Given the description of an element on the screen output the (x, y) to click on. 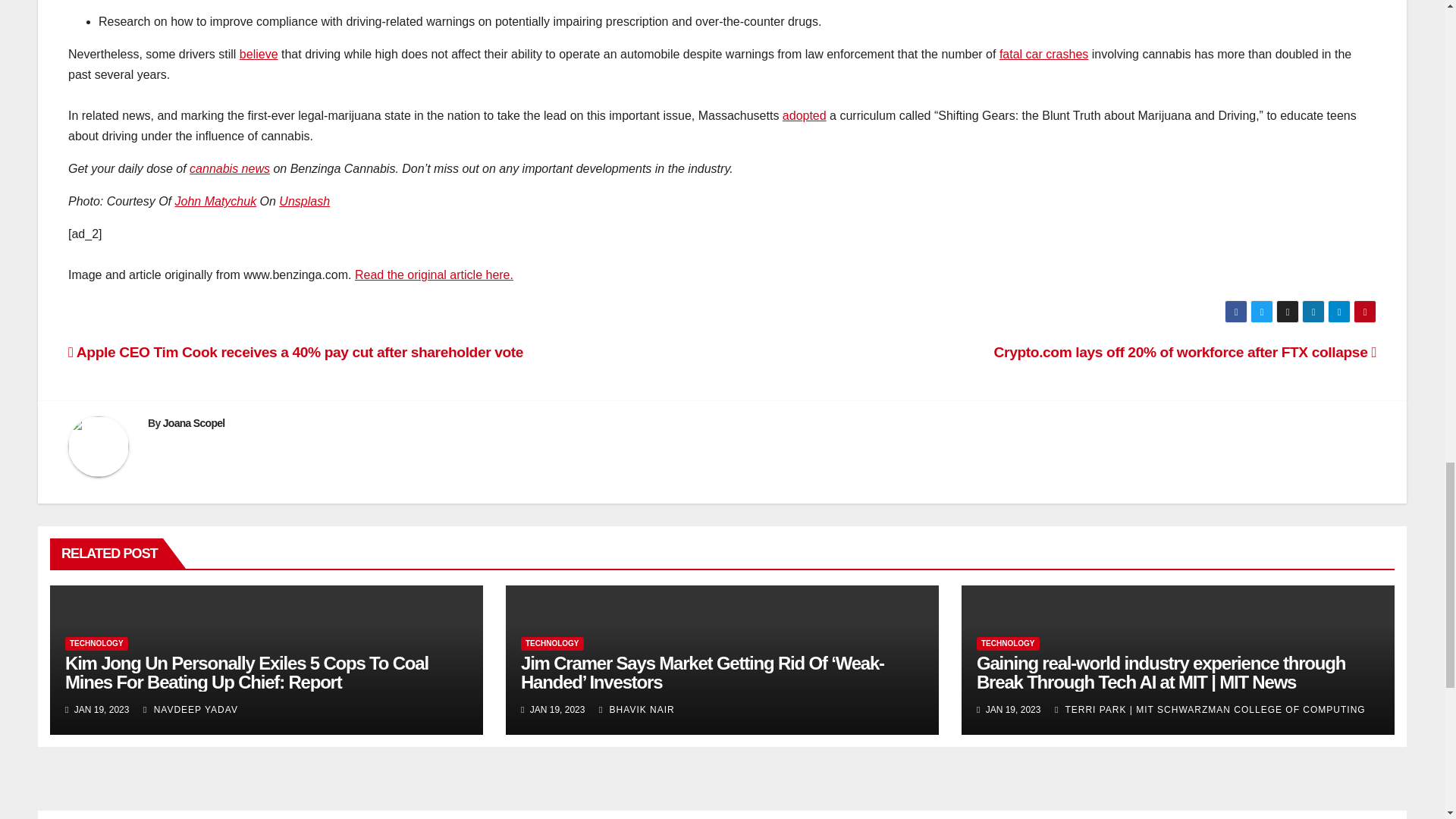
believe (259, 53)
adopted (805, 115)
Joana Scopel (194, 422)
TECHNOLOGY (96, 643)
Read the original article here. (434, 274)
cannabis news (229, 168)
John Matychuk (215, 201)
Unsplash (304, 201)
fatal car crashes (1042, 53)
